Given the description of an element on the screen output the (x, y) to click on. 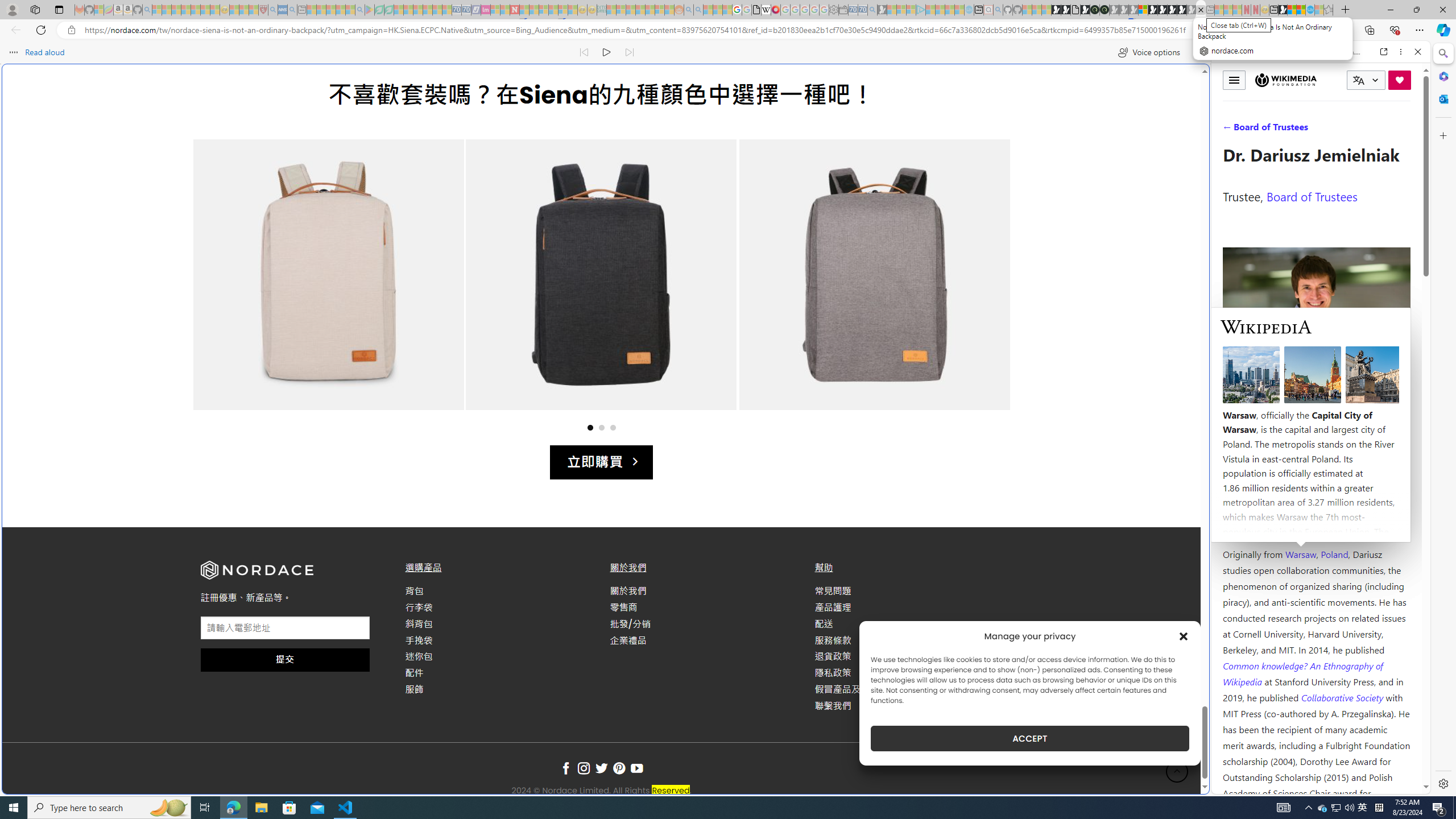
Next (979, 285)
Page dot 3 (612, 427)
